Given the description of an element on the screen output the (x, y) to click on. 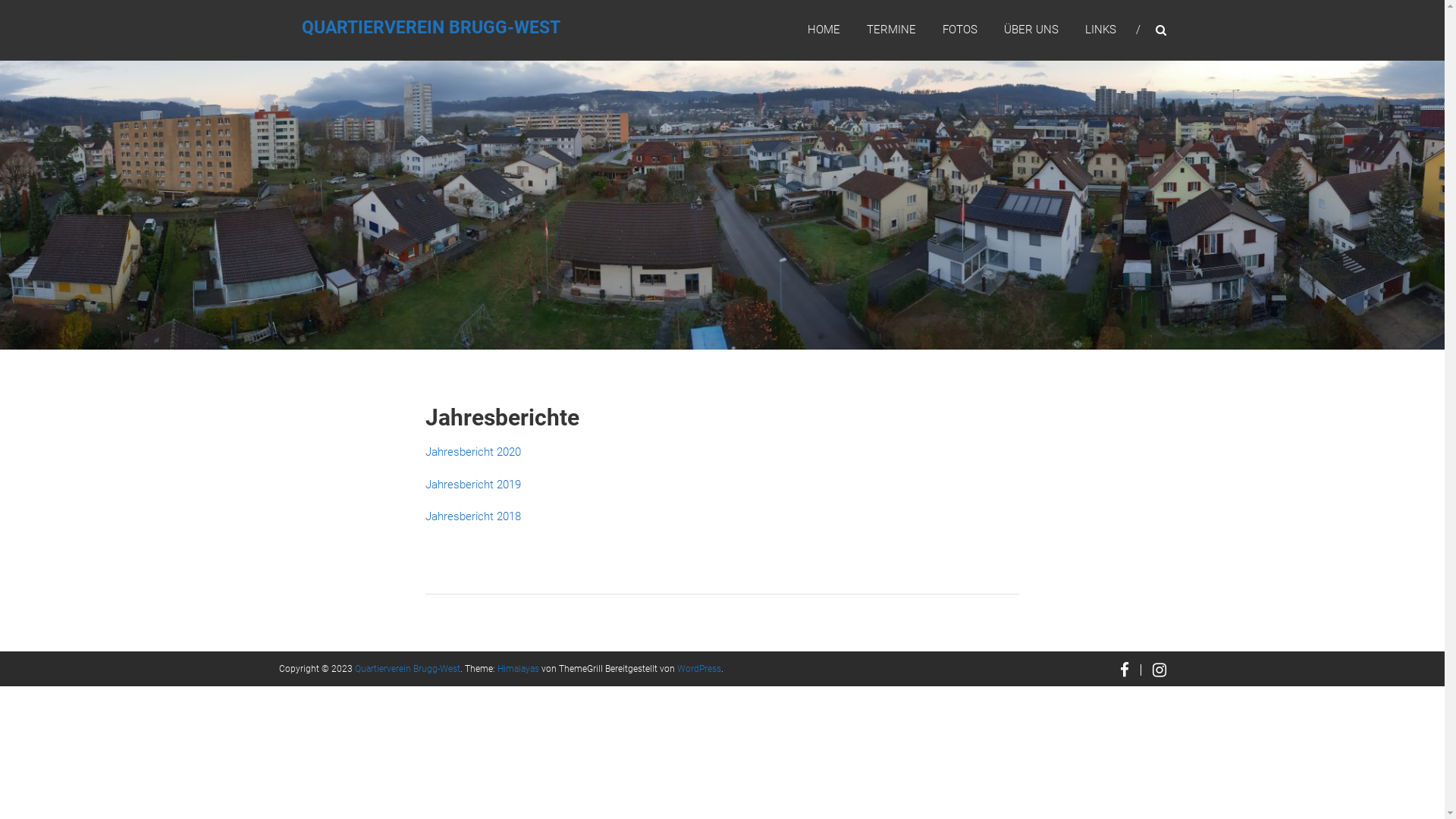
Quartierverein Brugg-West Element type: text (407, 667)
WordPress Element type: text (698, 667)
Himalayas Element type: text (518, 667)
Jahresbericht 2019 Element type: text (472, 484)
Suche Element type: text (1231, 409)
FOTOS Element type: text (958, 29)
HOME Element type: text (822, 29)
QUARTIERVEREIN BRUGG-WEST Element type: text (430, 27)
Jahresbericht 2018 Element type: text (472, 516)
LINKS Element type: text (1099, 29)
Jahresbericht 2020 Element type: text (472, 451)
TERMINE Element type: text (890, 29)
